Given the description of an element on the screen output the (x, y) to click on. 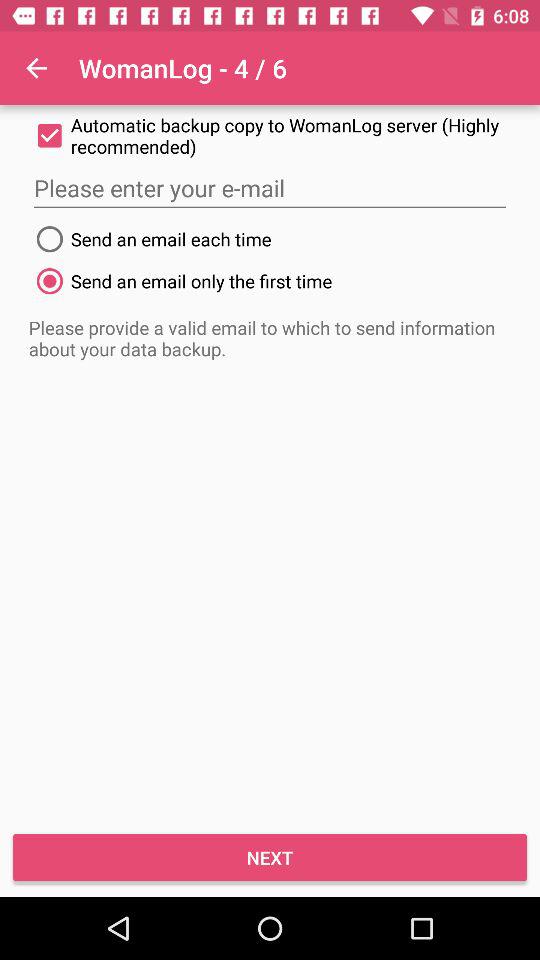
email field (269, 188)
